Given the description of an element on the screen output the (x, y) to click on. 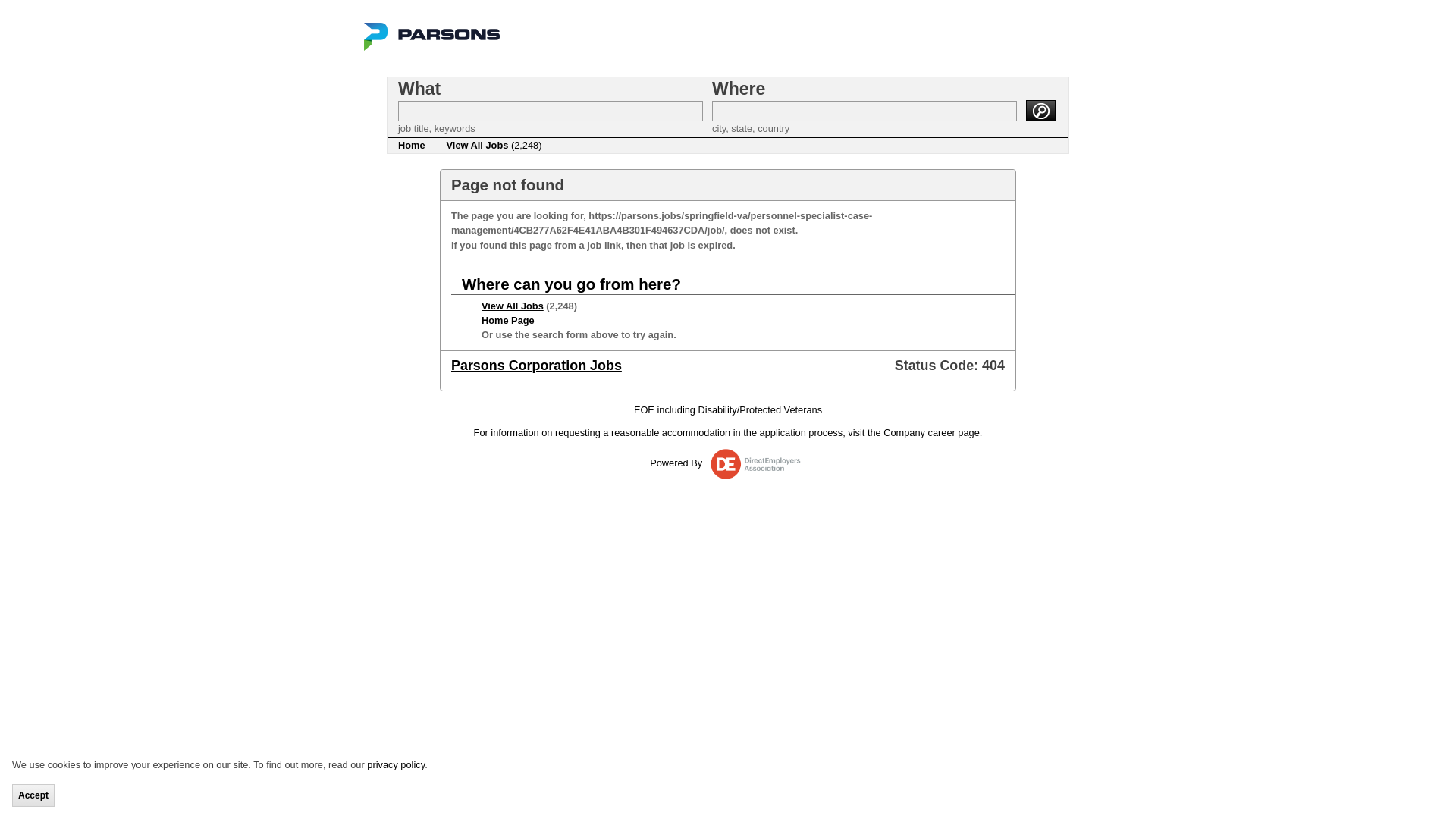
Home (411, 145)
Parsons Corporation Jobs (536, 365)
Home Page (507, 319)
search (1040, 110)
View All Jobs (512, 306)
Submit Search (1040, 110)
Search Phrase (550, 110)
Search Location (863, 110)
search (1040, 110)
visit the Company career page (913, 431)
